Given the description of an element on the screen output the (x, y) to click on. 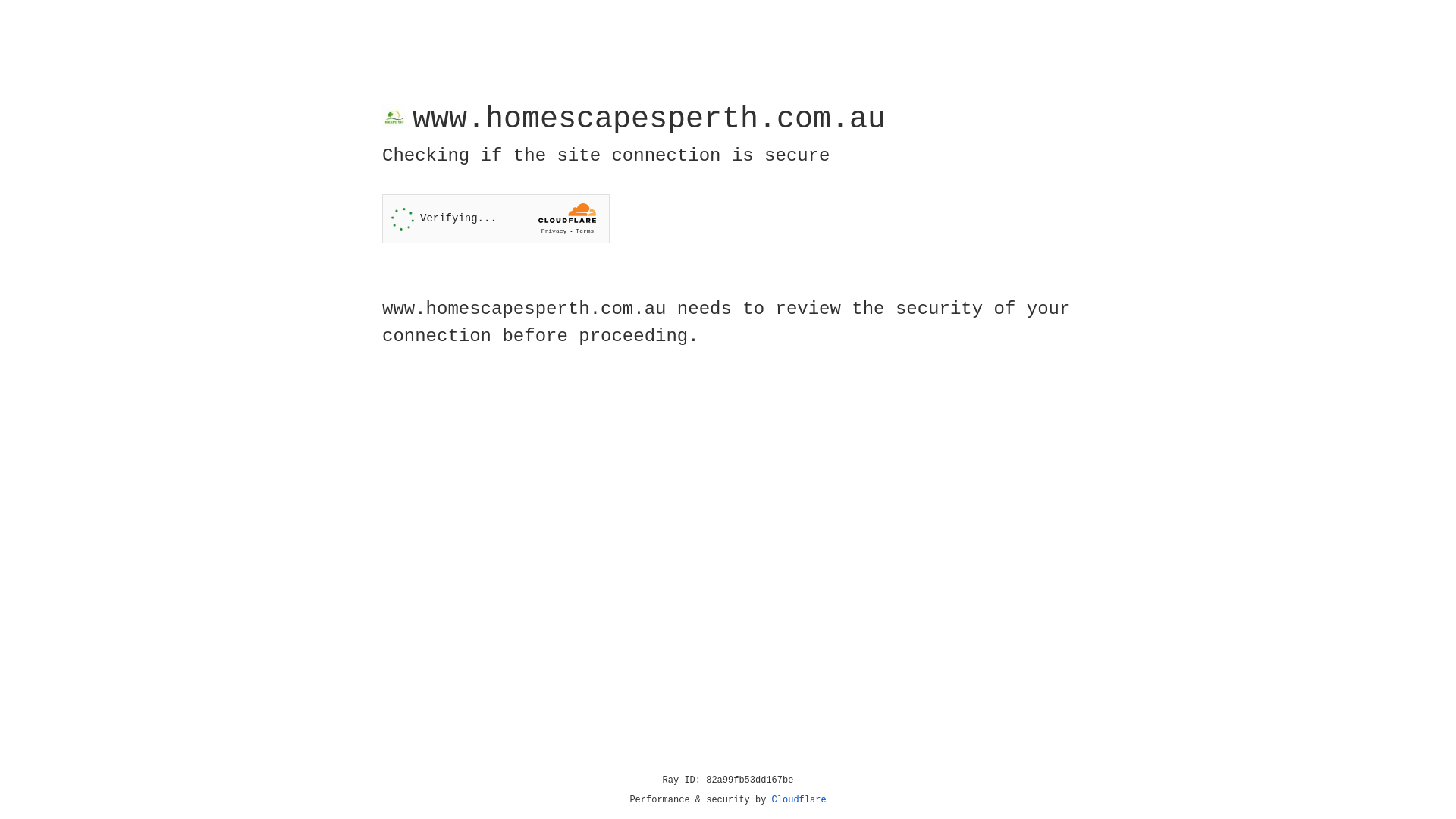
Widget containing a Cloudflare security challenge Element type: hover (495, 218)
Cloudflare Element type: text (798, 799)
